Given the description of an element on the screen output the (x, y) to click on. 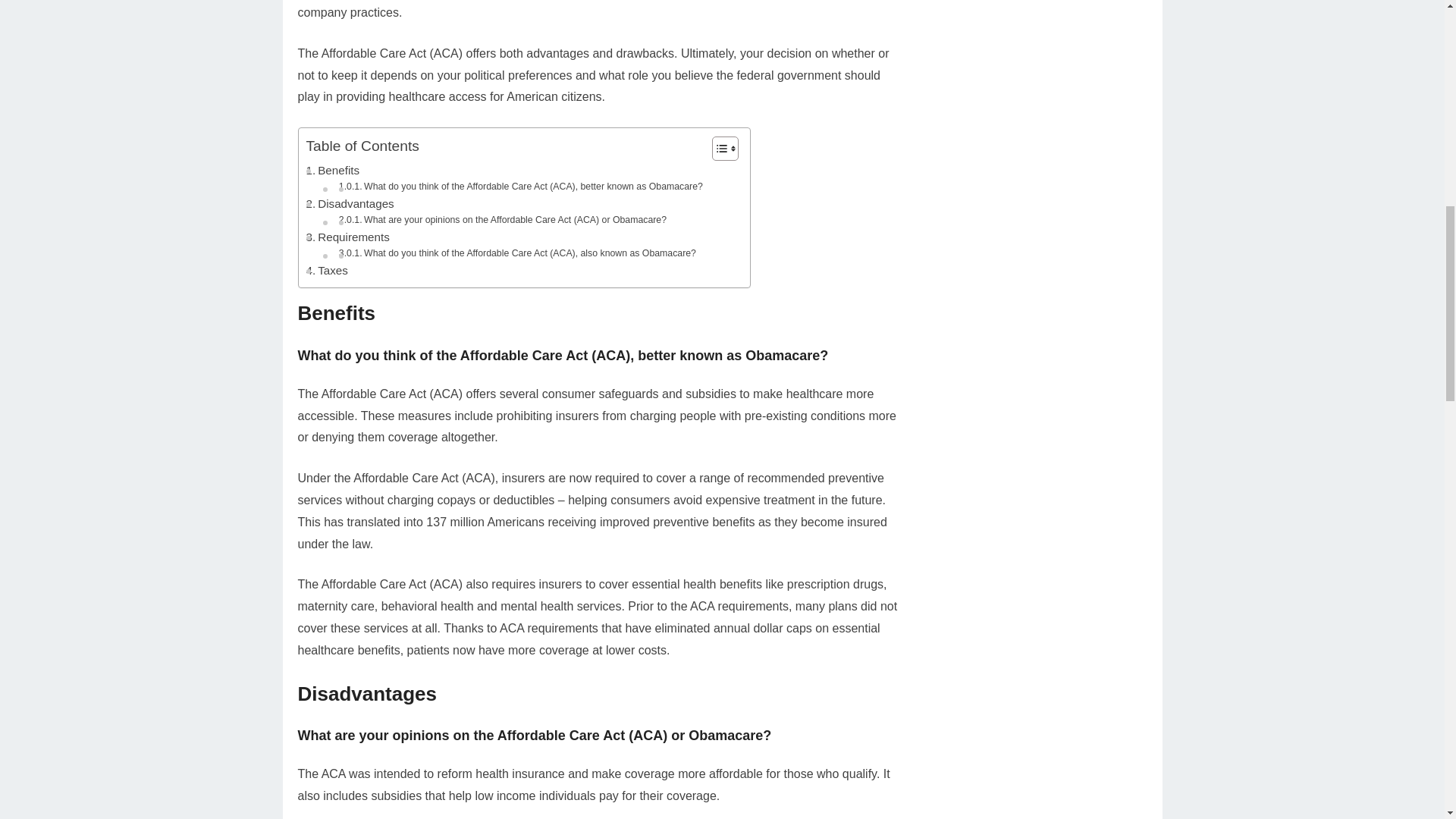
Requirements (347, 237)
Disadvantages (349, 203)
Requirements (347, 237)
Taxes (326, 270)
Benefits (332, 170)
Benefits (332, 170)
Disadvantages (349, 203)
